Given the description of an element on the screen output the (x, y) to click on. 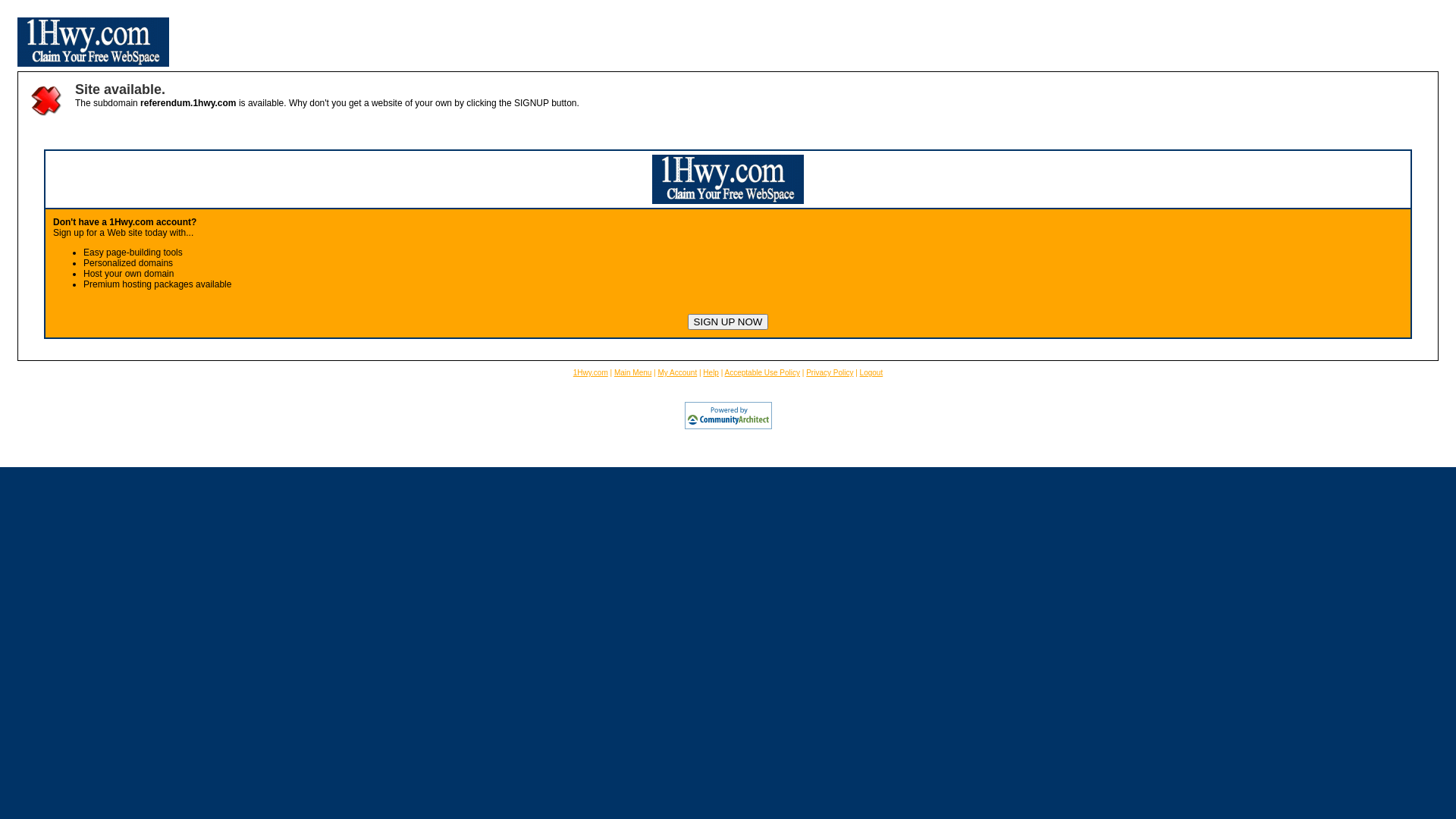
Help Element type: text (710, 372)
1Hwy.com Element type: text (590, 372)
Logout Element type: text (871, 372)
My Account Element type: text (677, 372)
SIGN UP NOW Element type: text (727, 321)
Main Menu Element type: text (632, 372)
Acceptable Use Policy Element type: text (762, 372)
Privacy Policy Element type: text (829, 372)
